Given the description of an element on the screen output the (x, y) to click on. 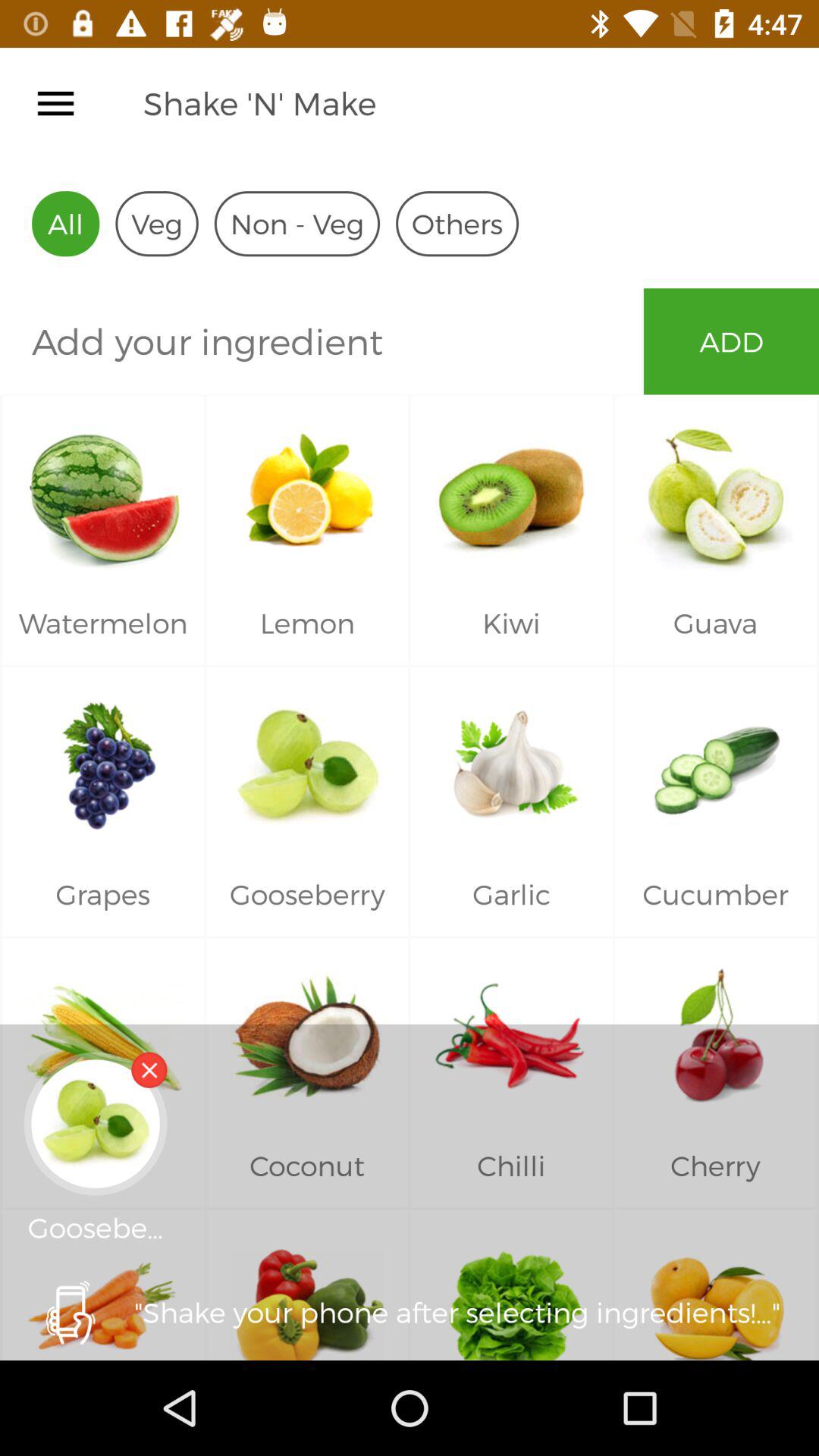
menu (55, 103)
